Given the description of an element on the screen output the (x, y) to click on. 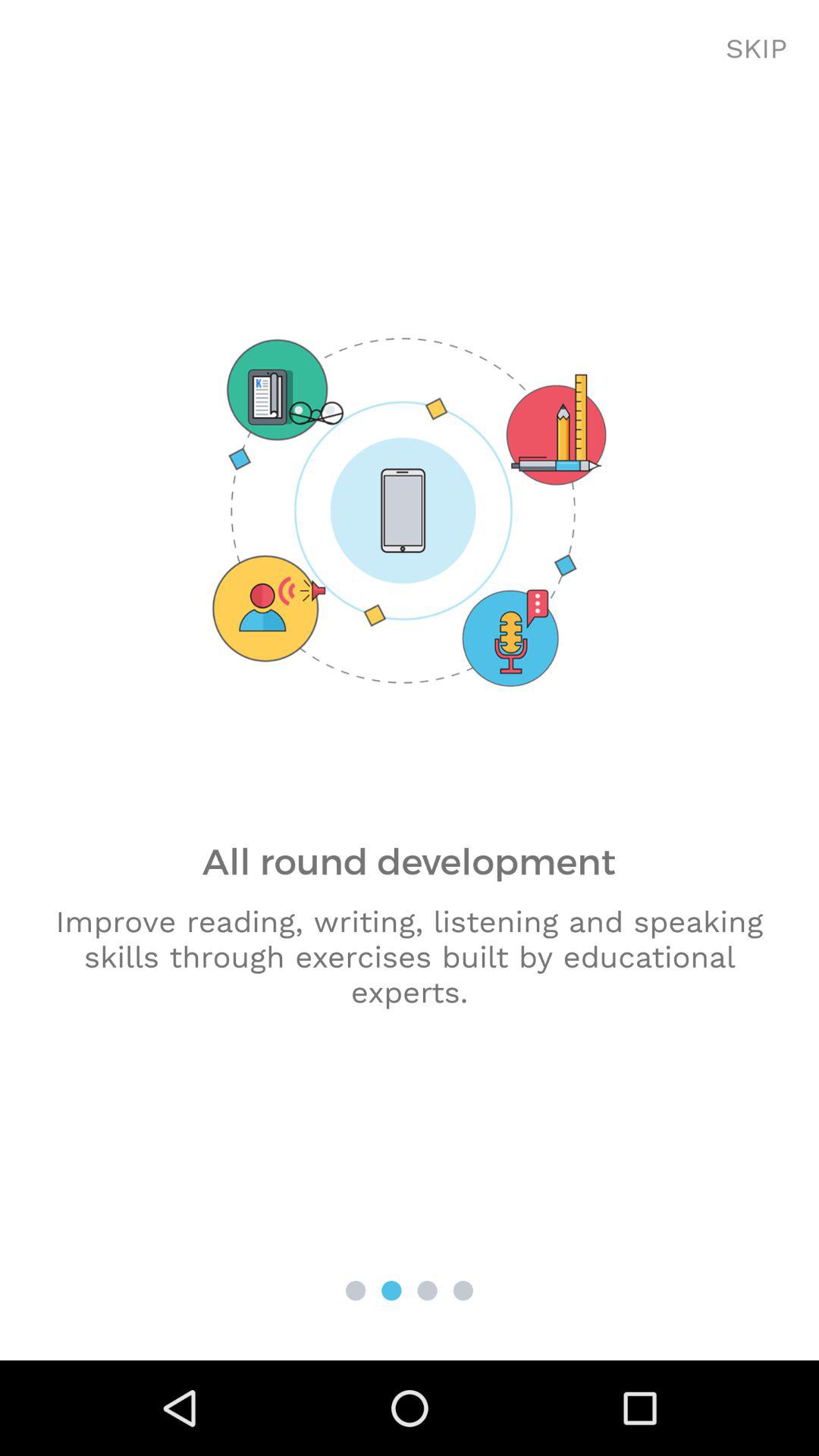
swipe to the skip (756, 49)
